Given the description of an element on the screen output the (x, y) to click on. 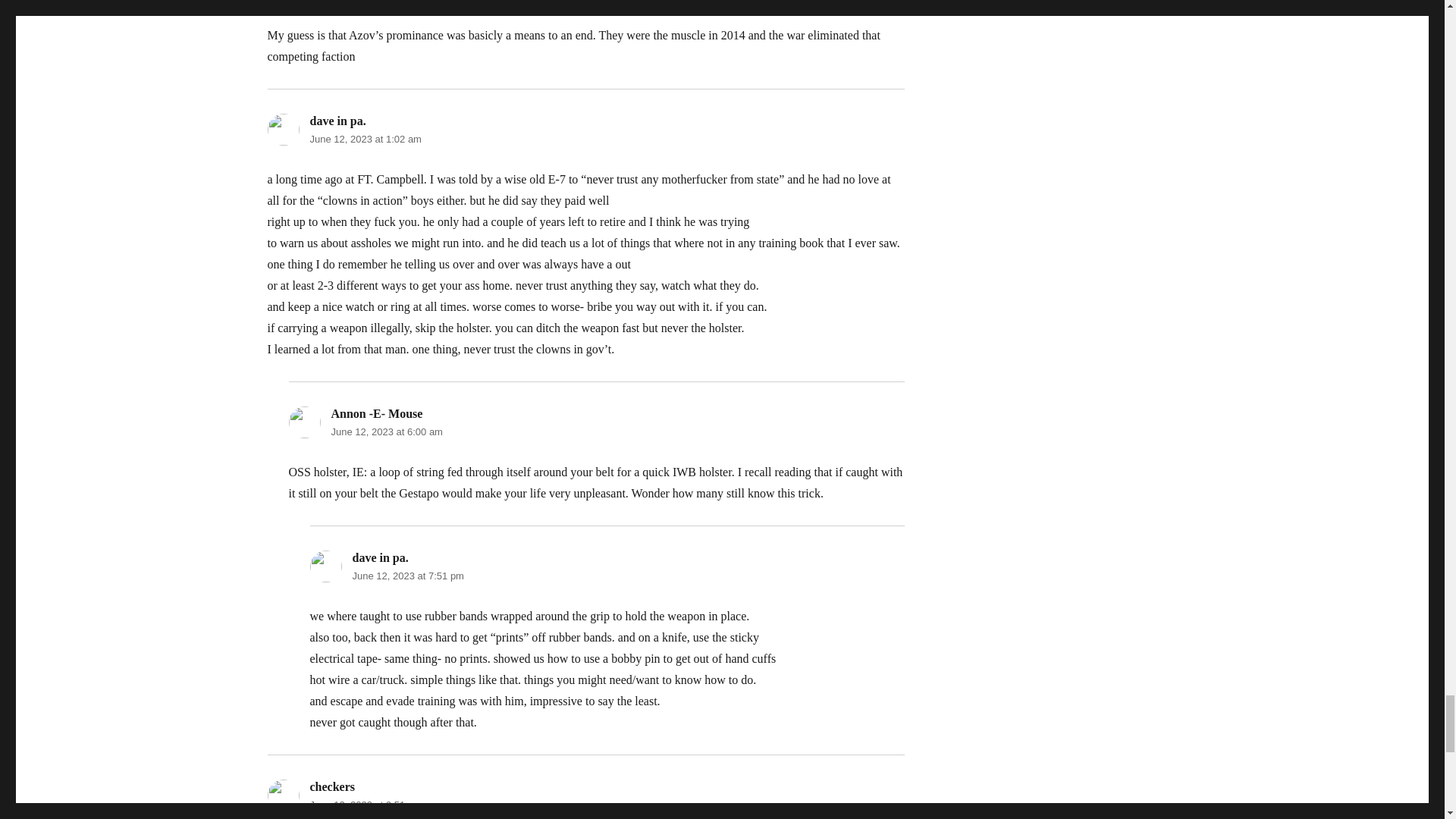
June 12, 2023 at 1:02 am (364, 138)
June 12, 2023 at 7:51 pm (407, 575)
June 12, 2023 at 6:00 am (386, 431)
June 12, 2023 at 9:51 pm (364, 804)
